Given the description of an element on the screen output the (x, y) to click on. 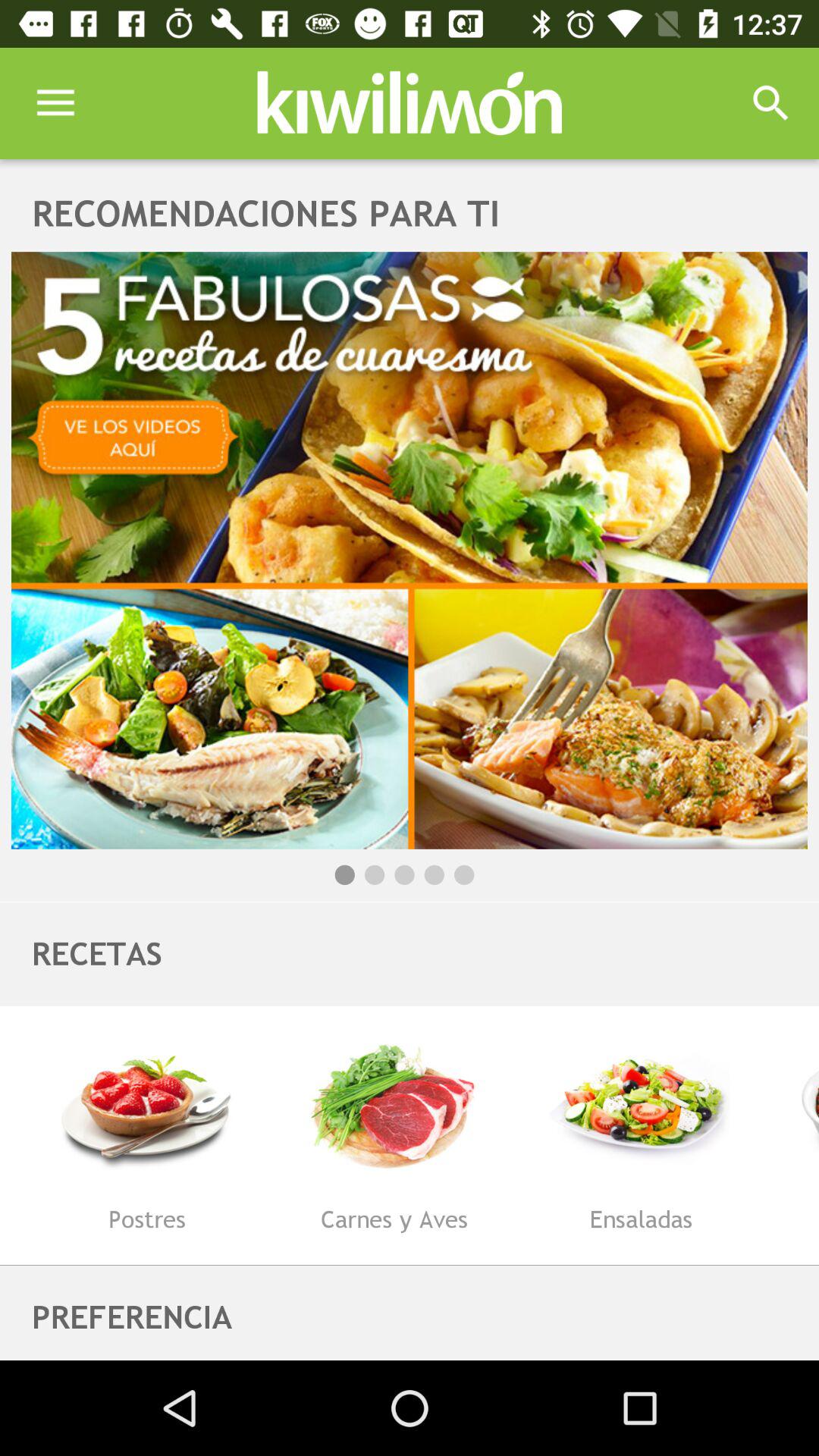
view recipes (409, 550)
